Given the description of an element on the screen output the (x, y) to click on. 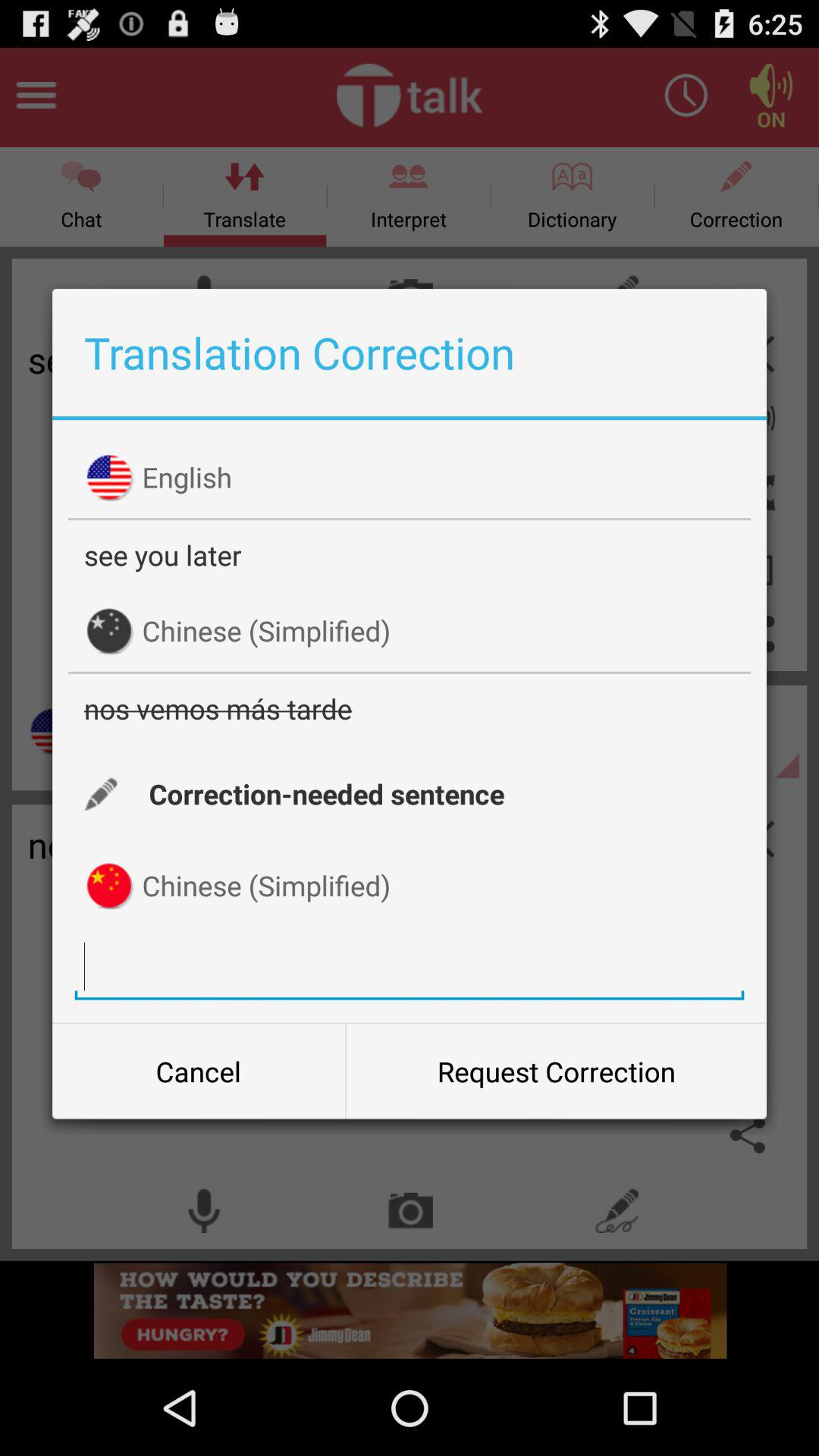
launch the cancel item (198, 1071)
